Given the description of an element on the screen output the (x, y) to click on. 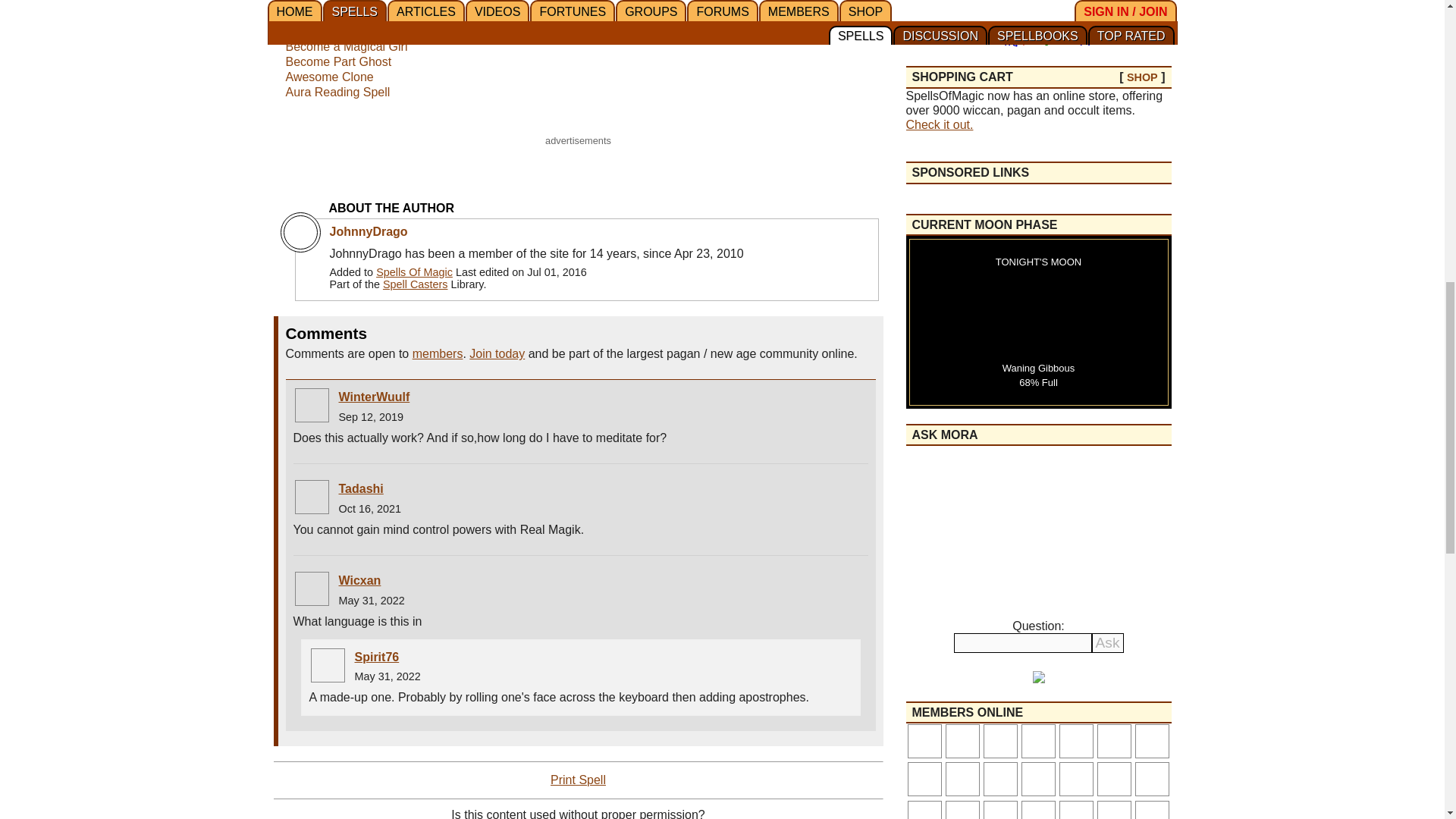
Ask (1108, 642)
